Given the description of an element on the screen output the (x, y) to click on. 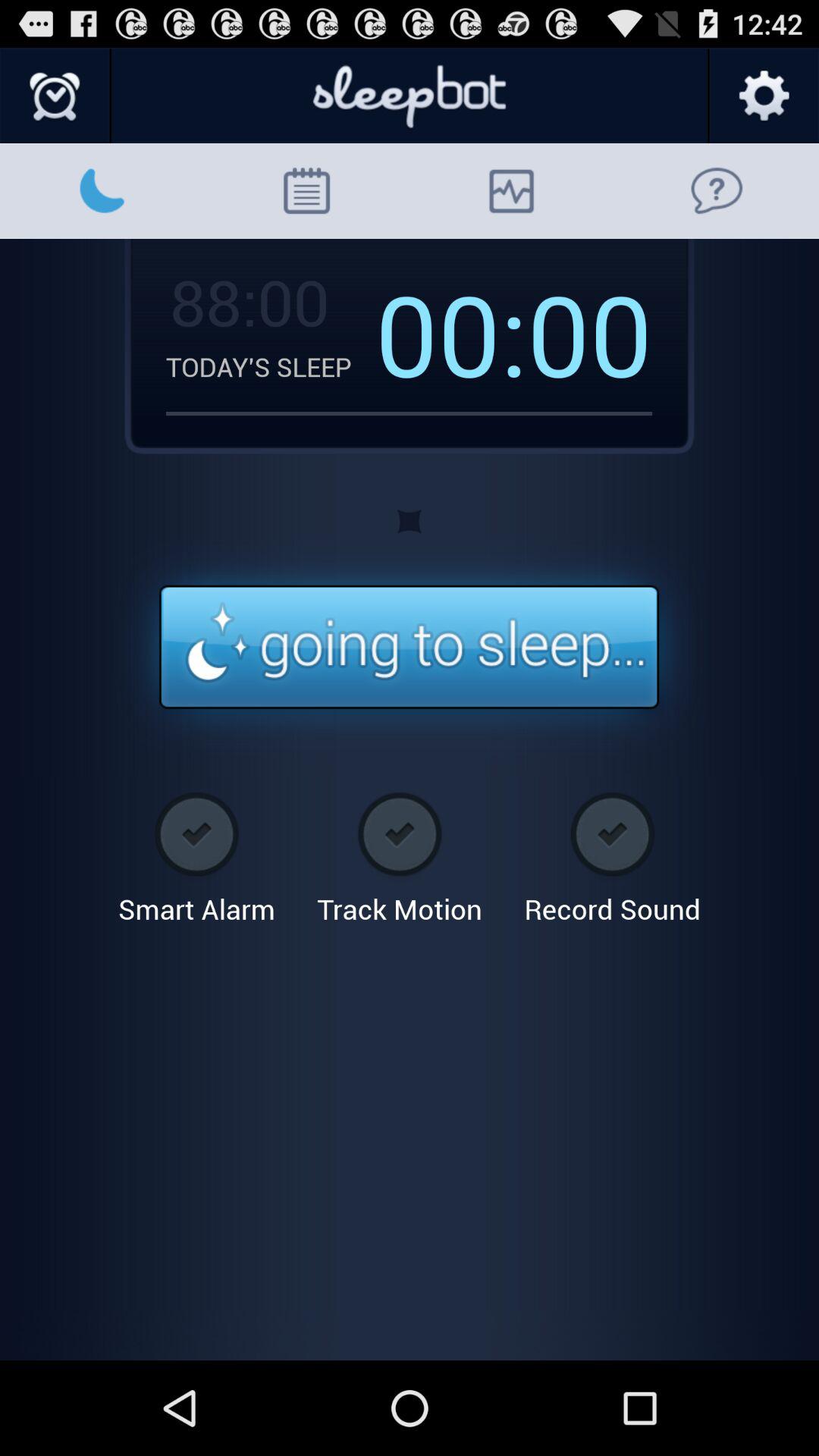
click the app to the left of the record sound (399, 852)
